Given the description of an element on the screen output the (x, y) to click on. 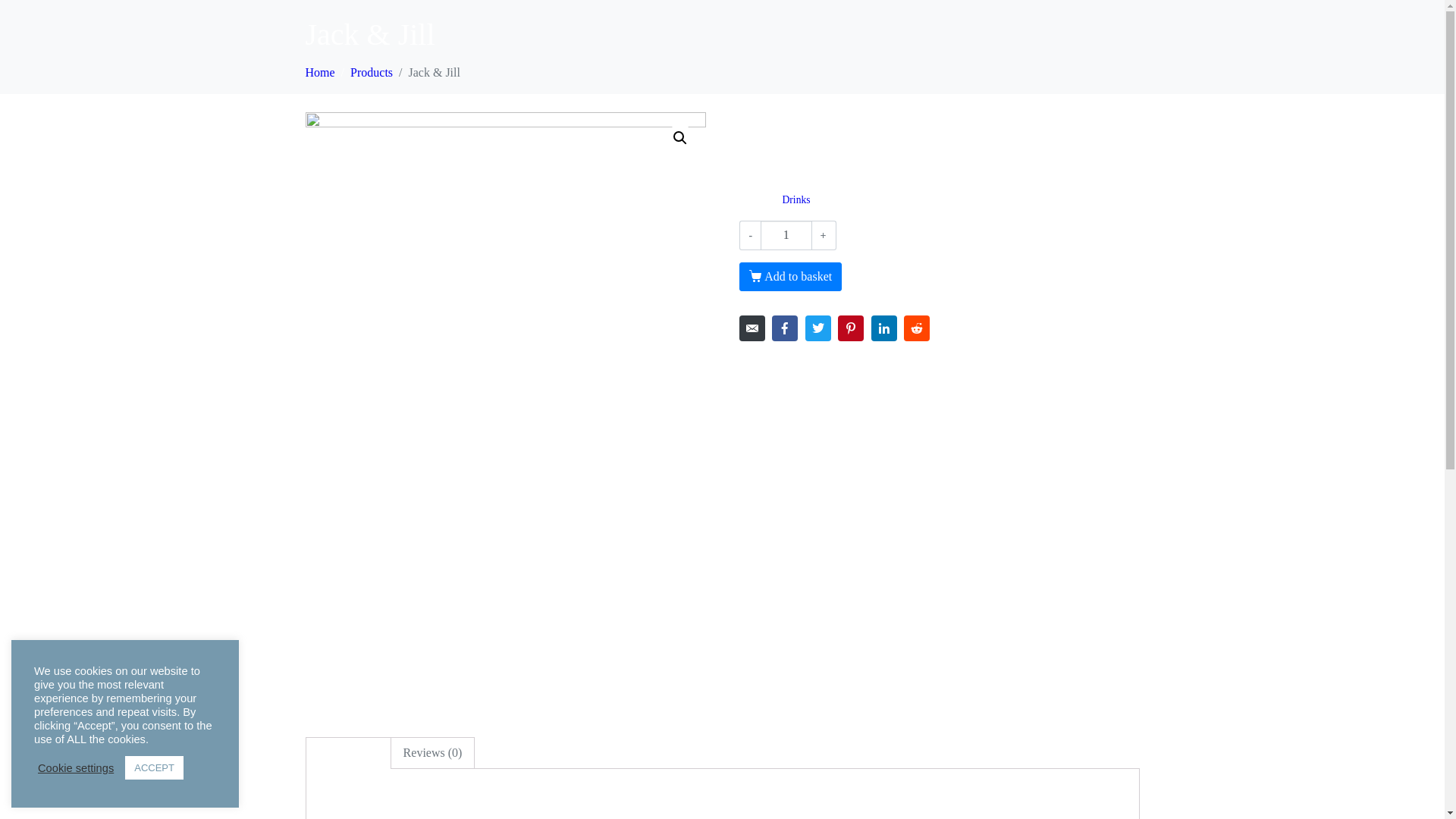
+ Element type: text (823, 235)
Cookie settings Element type: text (75, 768)
- Element type: text (749, 235)
Home Element type: text (319, 71)
Products Element type: text (371, 71)
Drinks Element type: text (796, 199)
Description Element type: text (348, 752)
ACCEPT Element type: text (154, 767)
Reviews (0) Element type: text (432, 752)
Add to basket Element type: text (789, 276)
jack Element type: hover (504, 412)
